Given the description of an element on the screen output the (x, y) to click on. 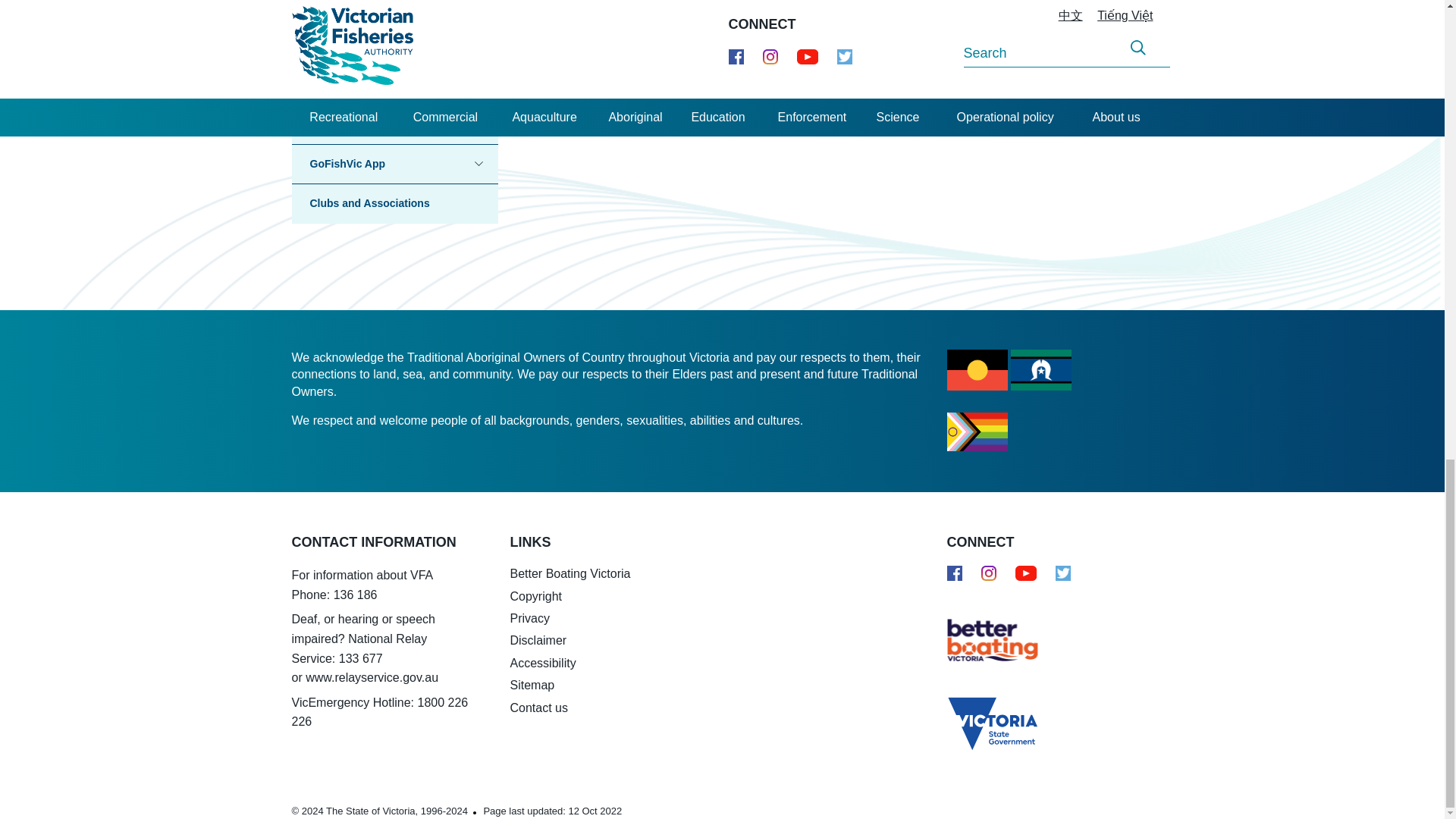
Facebook (953, 572)
Instagram (988, 572)
YouTube (1024, 572)
Better Boating Victoria (980, 639)
VIC State Government (980, 716)
Twitter (1062, 576)
